Given the description of an element on the screen output the (x, y) to click on. 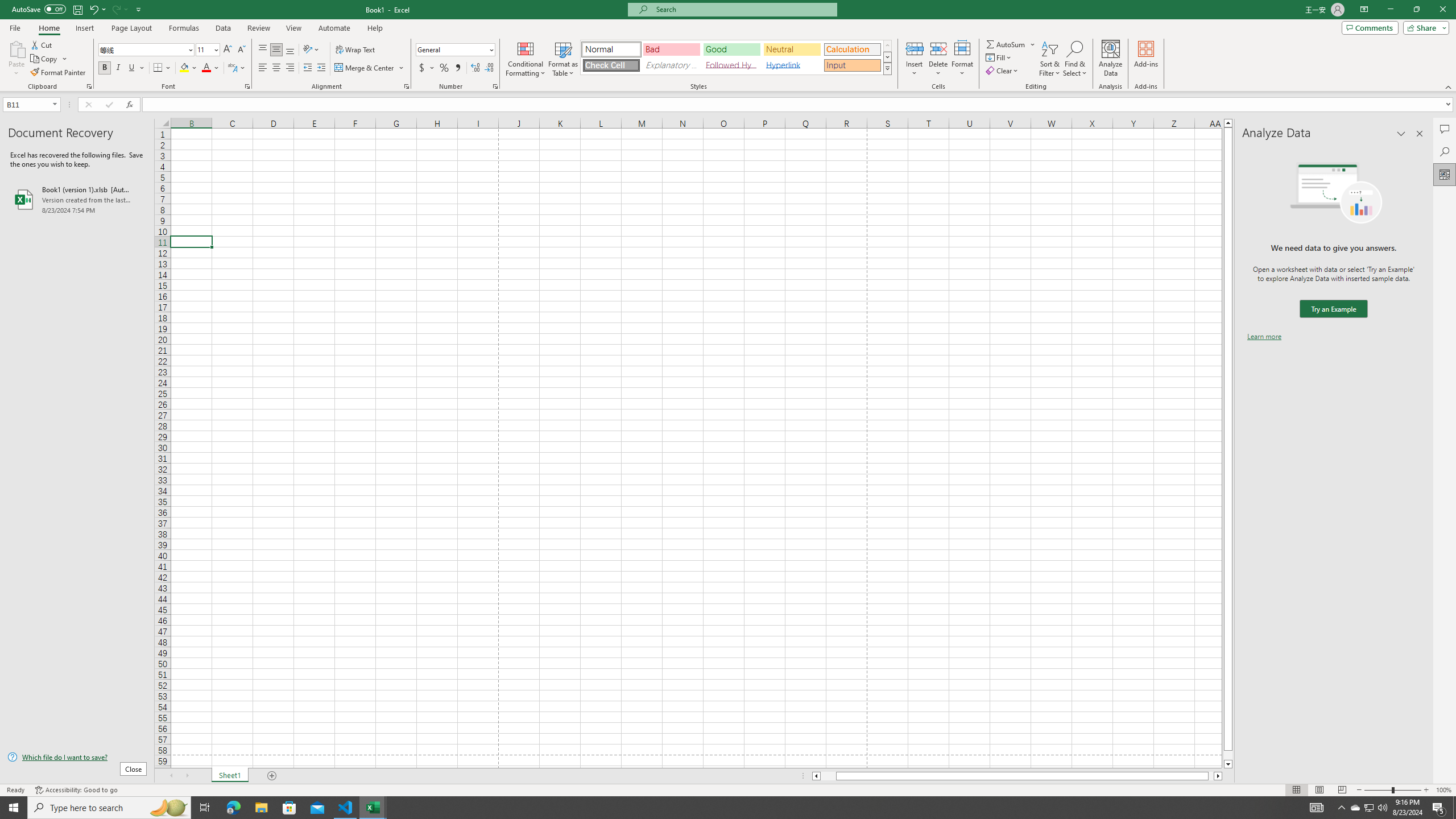
Fill (999, 56)
Calculation (852, 49)
Decrease Decimal (489, 67)
Italic (118, 67)
Font (142, 49)
Bad (671, 49)
Center (276, 67)
Middle Align (276, 49)
